Given the description of an element on the screen output the (x, y) to click on. 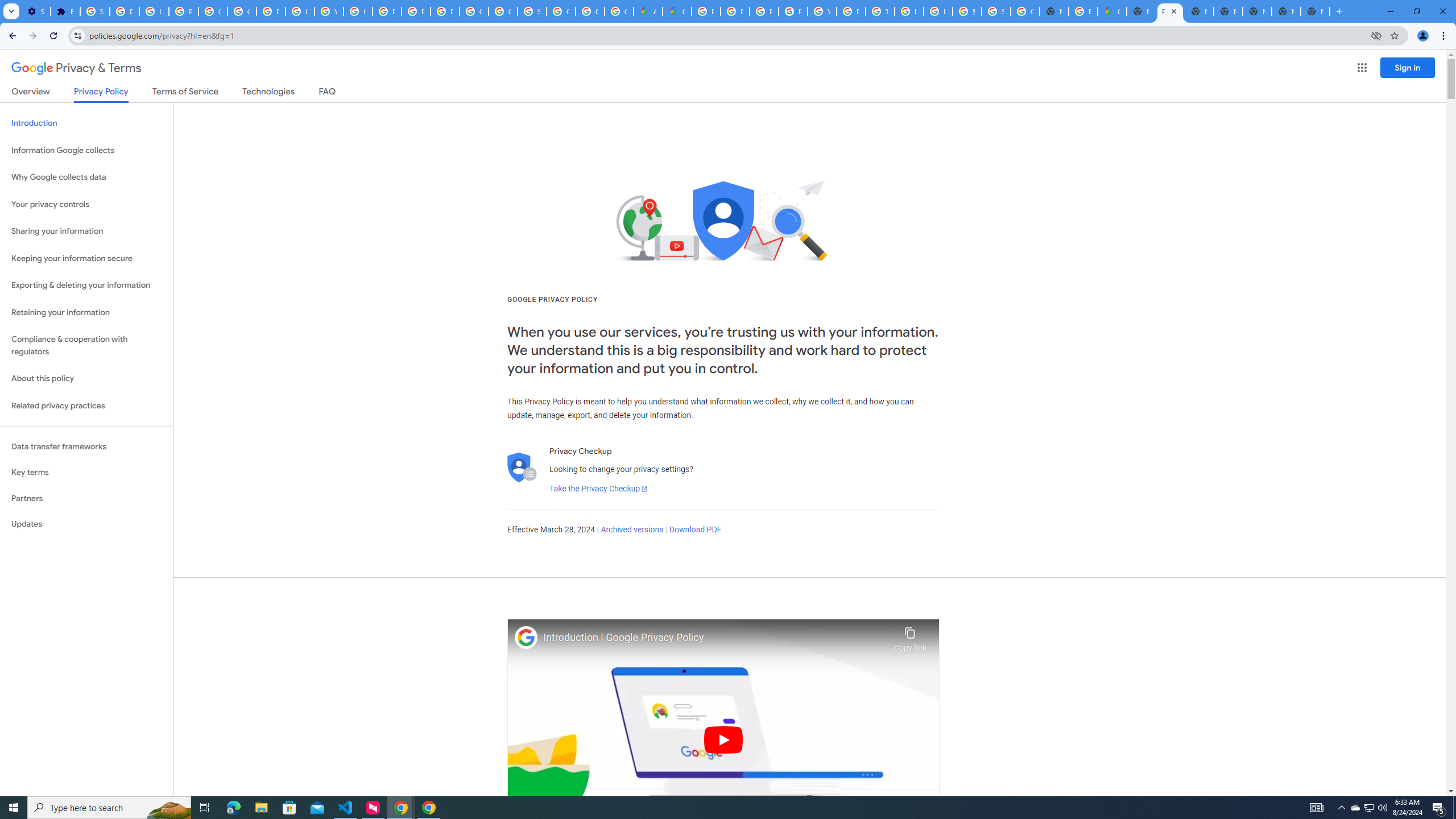
Related privacy practices (86, 405)
Google Maps (677, 11)
New Tab (1140, 11)
Privacy Help Center - Policies Help (386, 11)
YouTube (327, 11)
Sign in - Google Accounts (95, 11)
Keeping your information secure (86, 258)
